Given the description of an element on the screen output the (x, y) to click on. 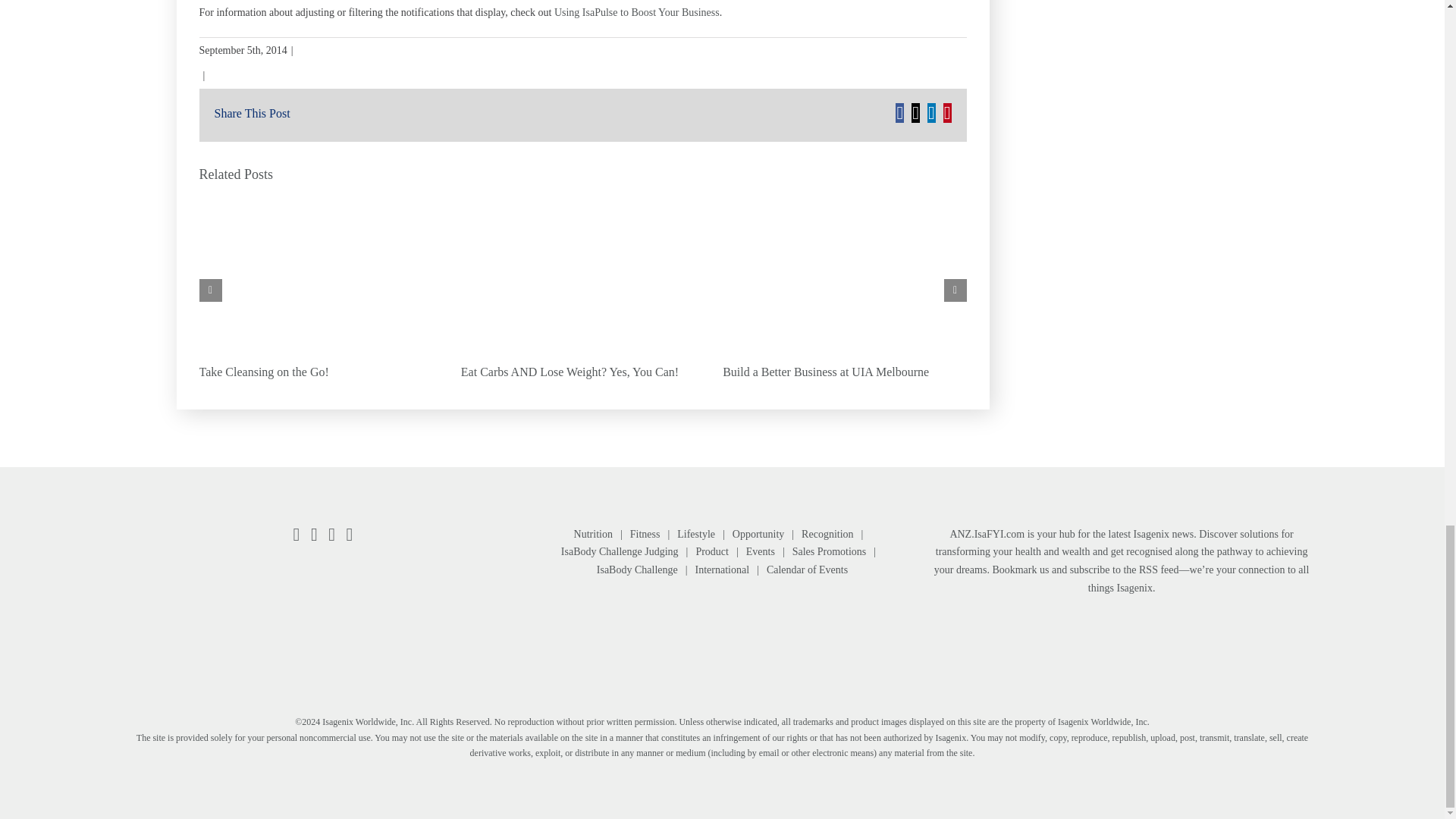
Eat Carbs AND Lose Weight? Yes, You Can! (569, 371)
Take Cleansing on the Go! (263, 371)
Build a Better Business at UIA Melbourne (825, 371)
